Given the description of an element on the screen output the (x, y) to click on. 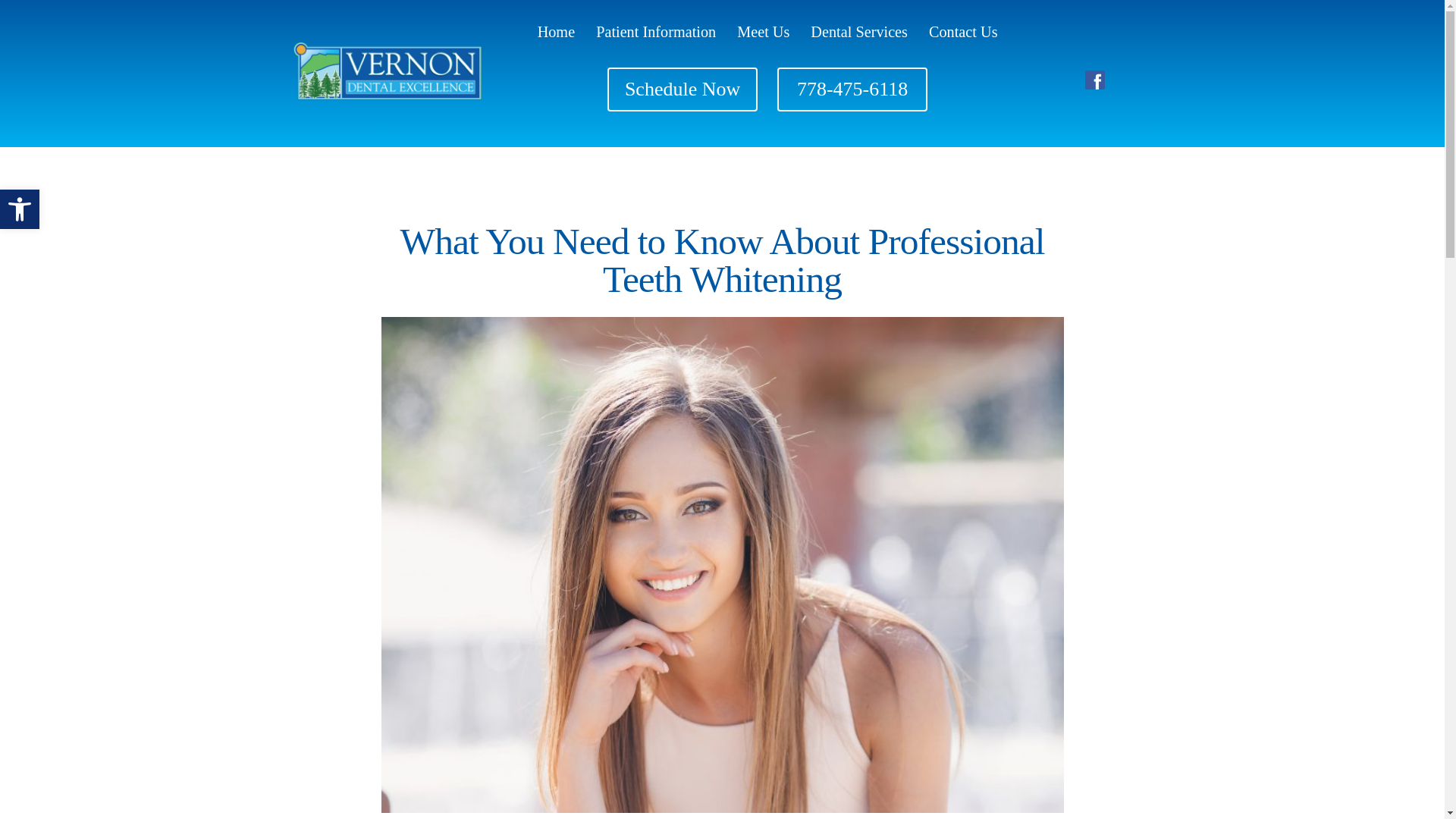
Dental Services (858, 31)
Accessibility Tools (19, 209)
Accessibility Tools (19, 209)
Home (19, 209)
Meet Us (556, 31)
Patient Information (762, 31)
